Given the description of an element on the screen output the (x, y) to click on. 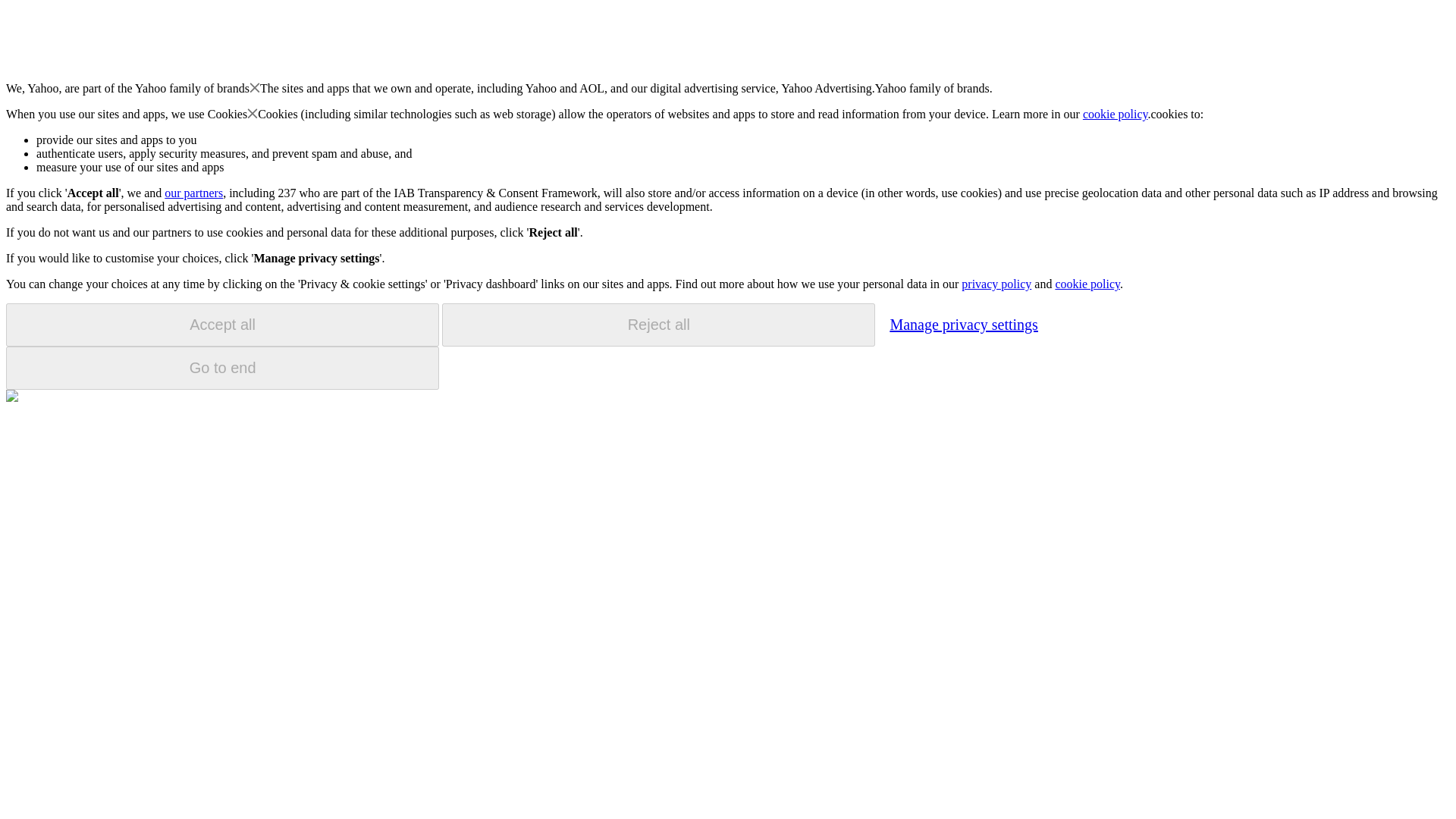
Reject all (658, 324)
privacy policy (995, 283)
Go to end (222, 367)
Accept all (222, 324)
cookie policy (1115, 113)
Manage privacy settings (963, 323)
cookie policy (1086, 283)
our partners (193, 192)
